Given the description of an element on the screen output the (x, y) to click on. 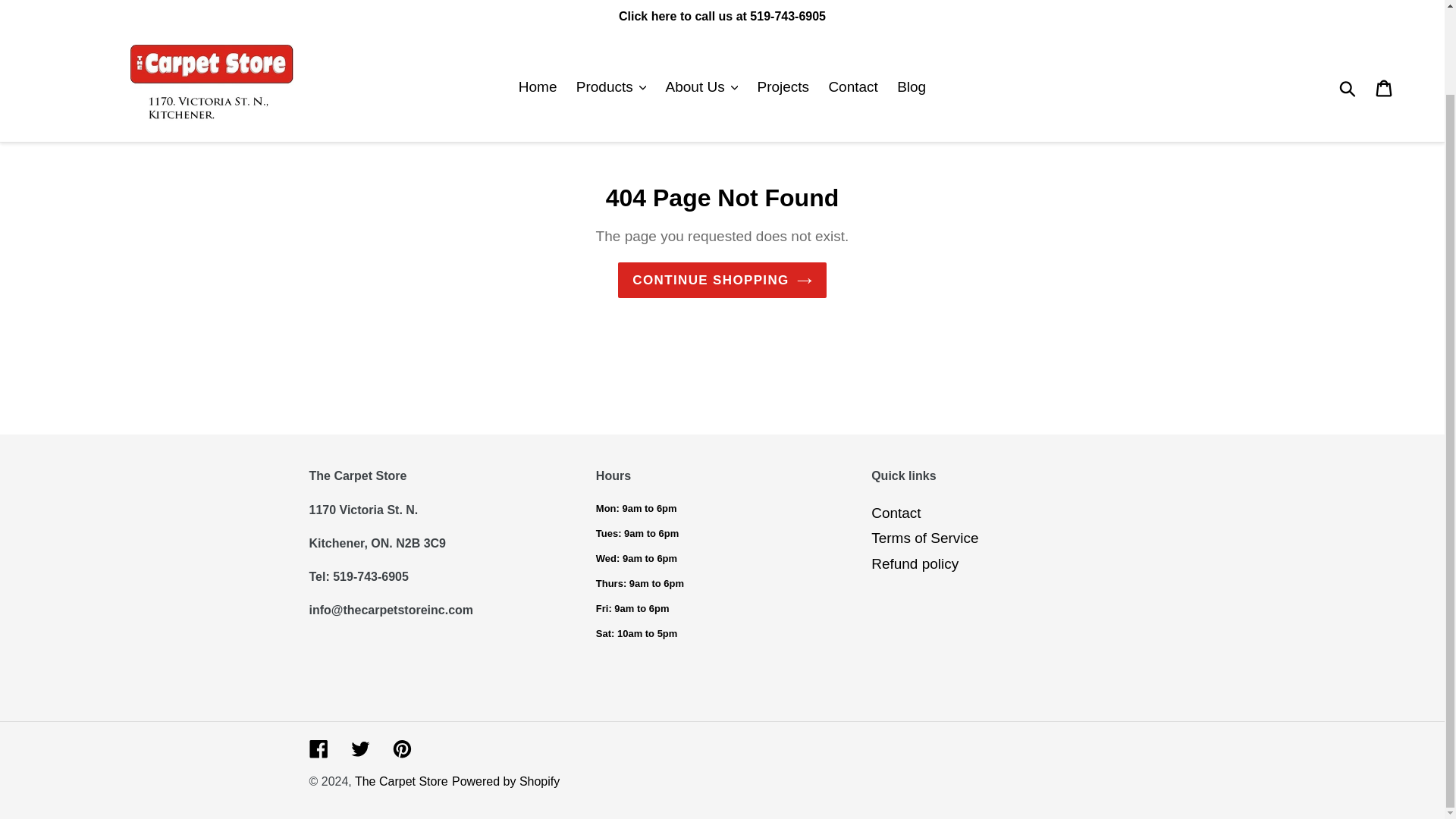
Home (537, 2)
Blog (911, 2)
Projects (782, 2)
Submit (1348, 4)
Contact (853, 2)
Cart (1385, 5)
